Given the description of an element on the screen output the (x, y) to click on. 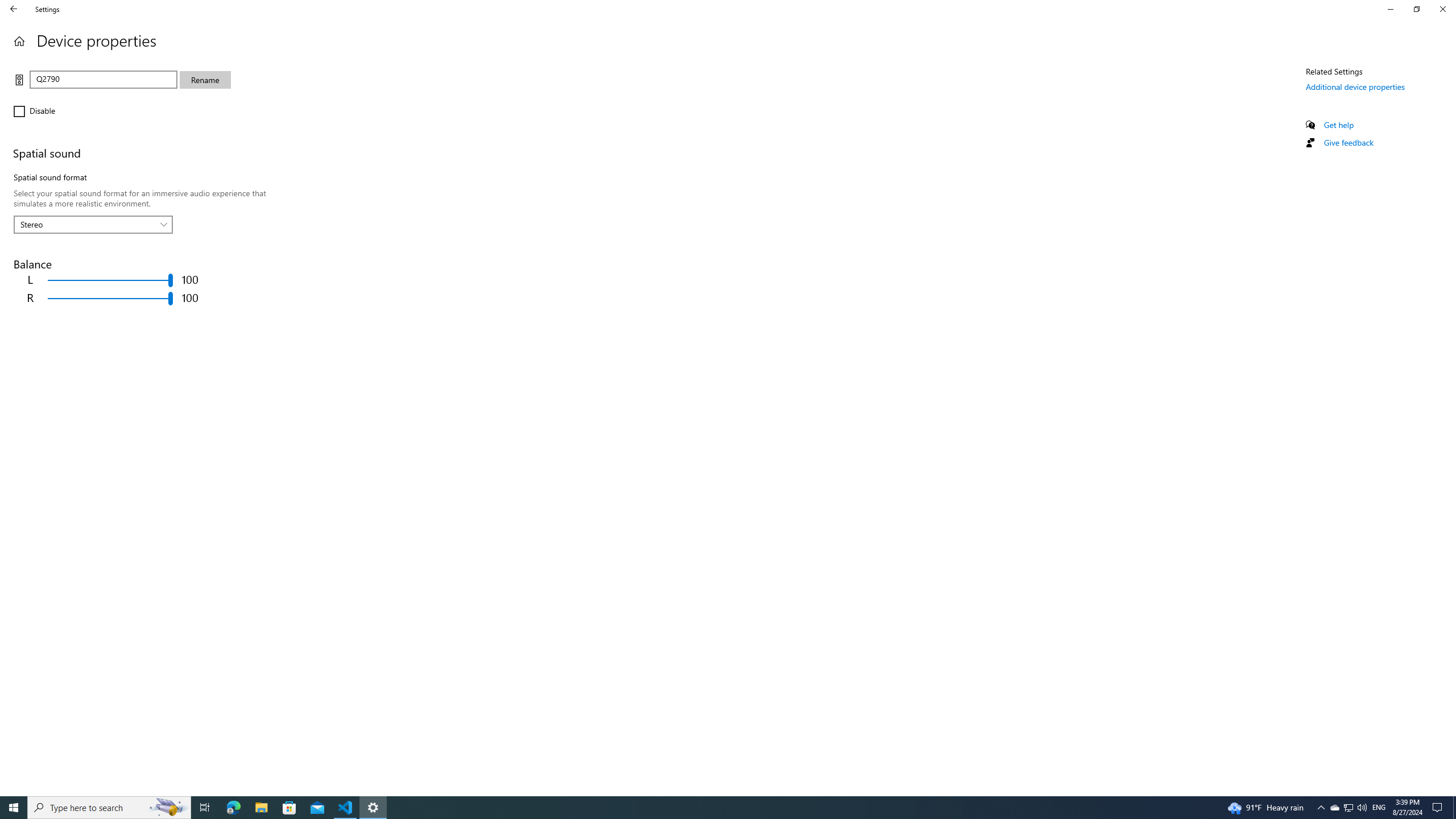
Stereo (87, 224)
Minimize Settings (1390, 9)
Adjust right audio balance (110, 298)
Settings - 1 running window (373, 807)
Tray Input Indicator - English (United States) (1378, 807)
Action Center, No new notifications (1439, 807)
Home (19, 40)
Back (13, 9)
Disable (47, 111)
Spatial sound format (93, 224)
